Given the description of an element on the screen output the (x, y) to click on. 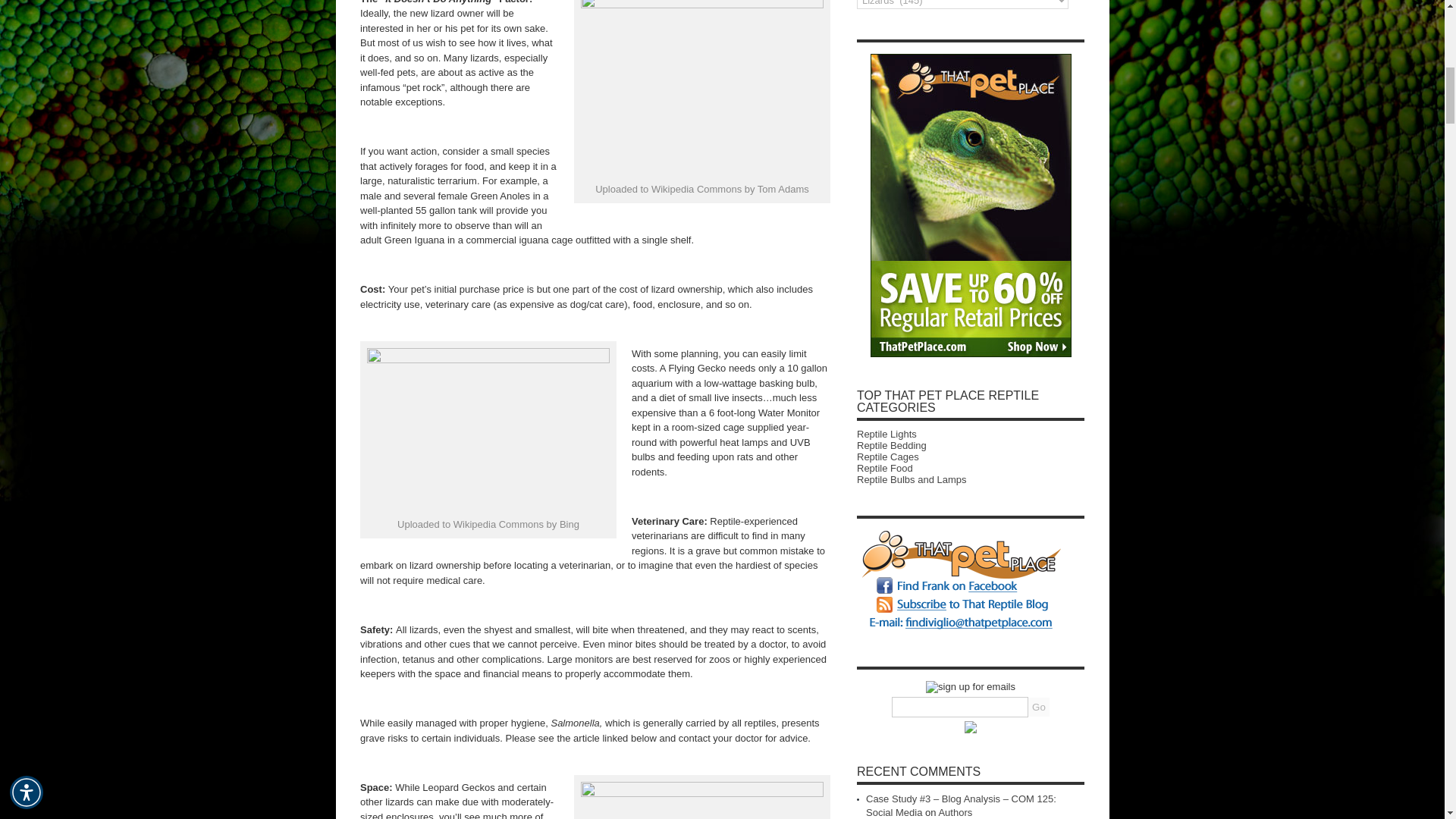
Go (1038, 706)
